Given the description of an element on the screen output the (x, y) to click on. 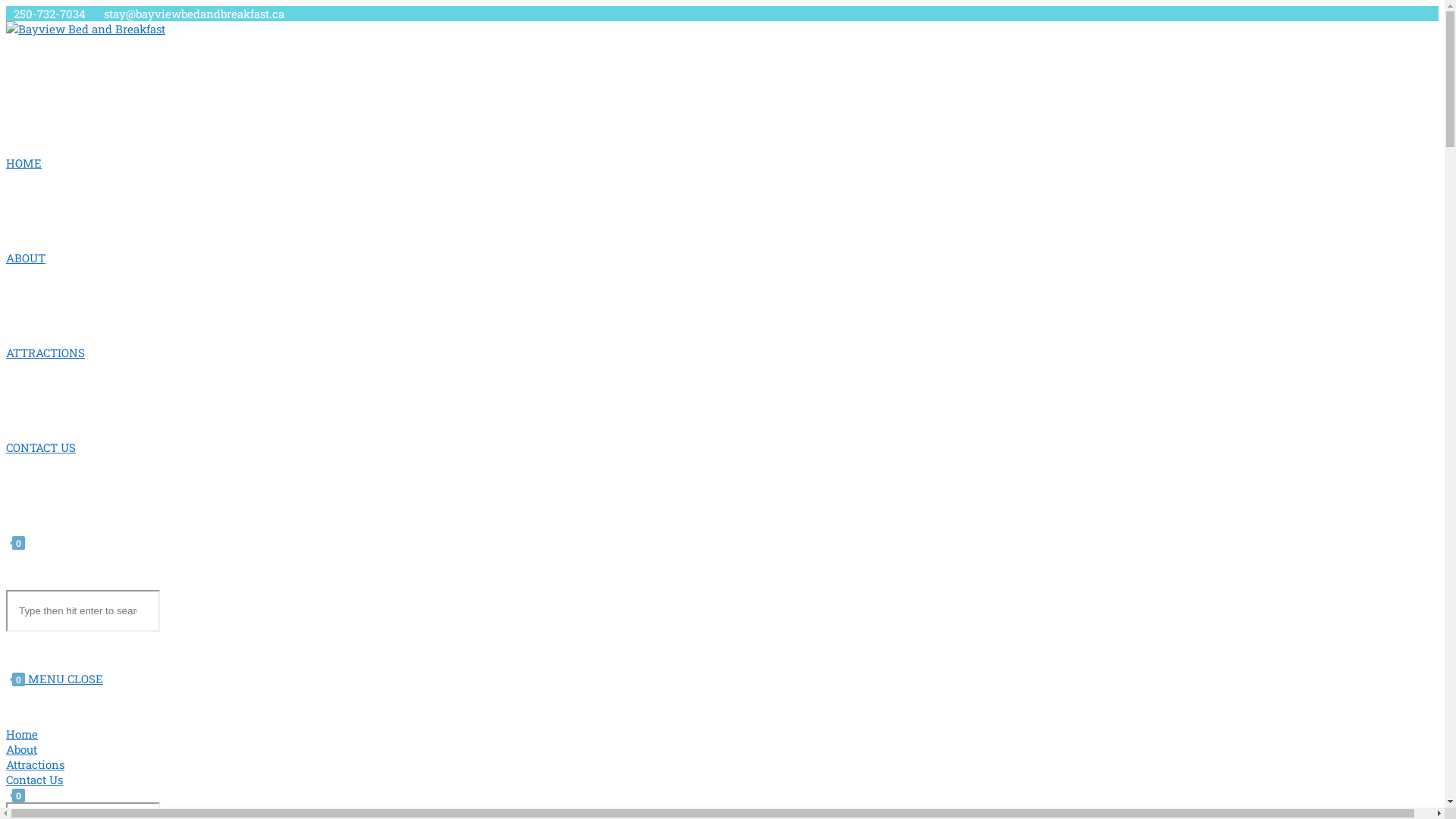
CONTACT US Element type: text (40, 447)
HOME Element type: text (23, 162)
Skip to content Element type: text (5, 5)
1174 Element type: text (1392, 24)
ATTRACTIONS Element type: text (45, 352)
0 Element type: text (15, 541)
Attractions Element type: text (35, 763)
MENU CLOSE Element type: text (65, 678)
ABOUT Element type: text (25, 257)
0 Element type: text (15, 794)
0 Element type: text (17, 678)
About Element type: text (21, 748)
Home Element type: text (21, 733)
Contact Us Element type: text (34, 779)
